Given the description of an element on the screen output the (x, y) to click on. 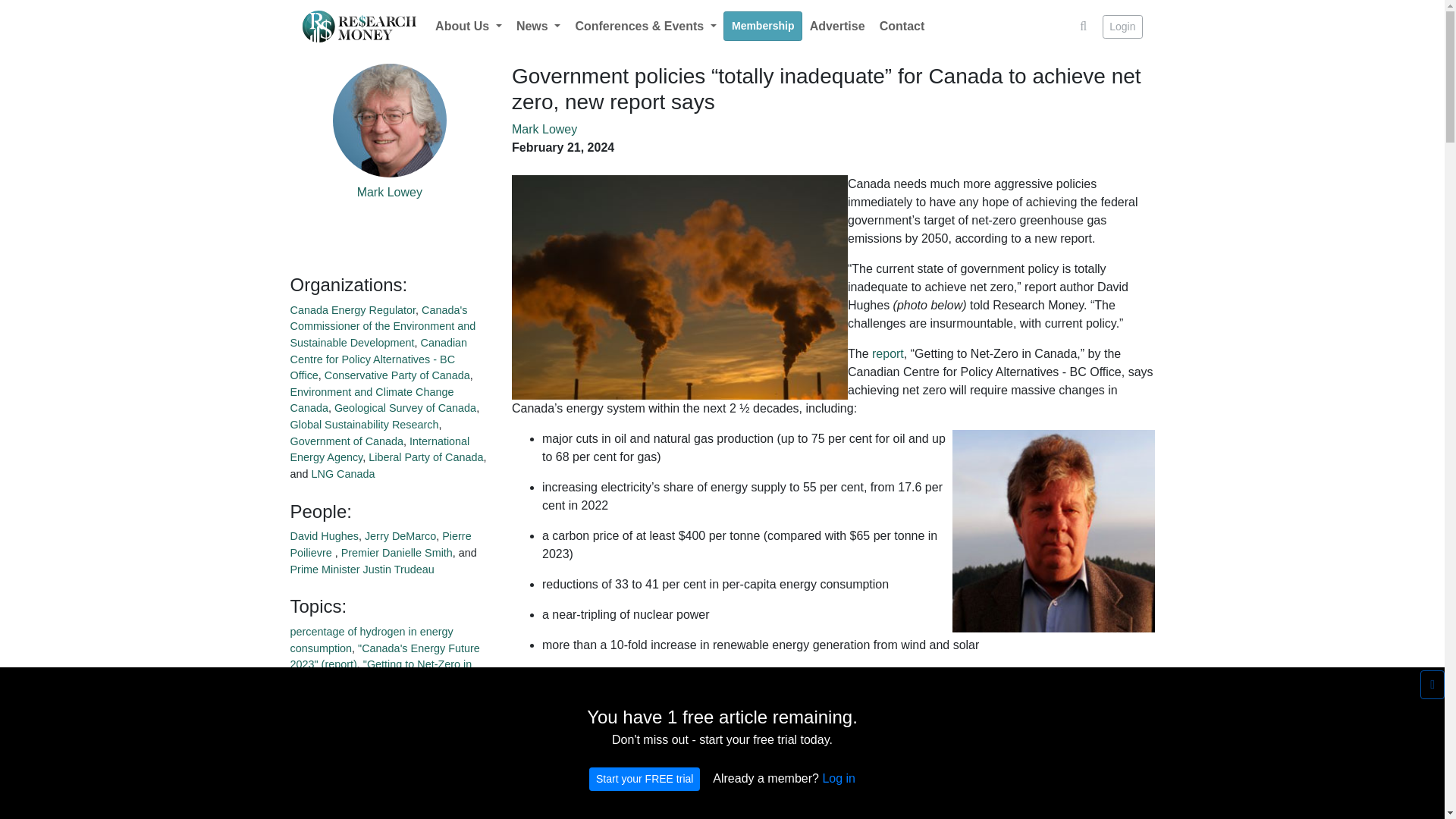
David Hughes (323, 535)
About Us (468, 26)
Geological Survey of Canada (405, 408)
Conservative Party of Canada (397, 375)
Liberal Party of Canada (425, 457)
Global Sustainability Research (363, 424)
Login (1121, 26)
percentage of hydrogen in energy consumption (370, 639)
Pierre Poilievre (379, 543)
Advertise (837, 26)
LNG Canada (343, 473)
Environment and Climate Change Canada (370, 399)
Canadian Centre for Policy Alternatives - BC Office (378, 358)
Membership (762, 25)
